Given the description of an element on the screen output the (x, y) to click on. 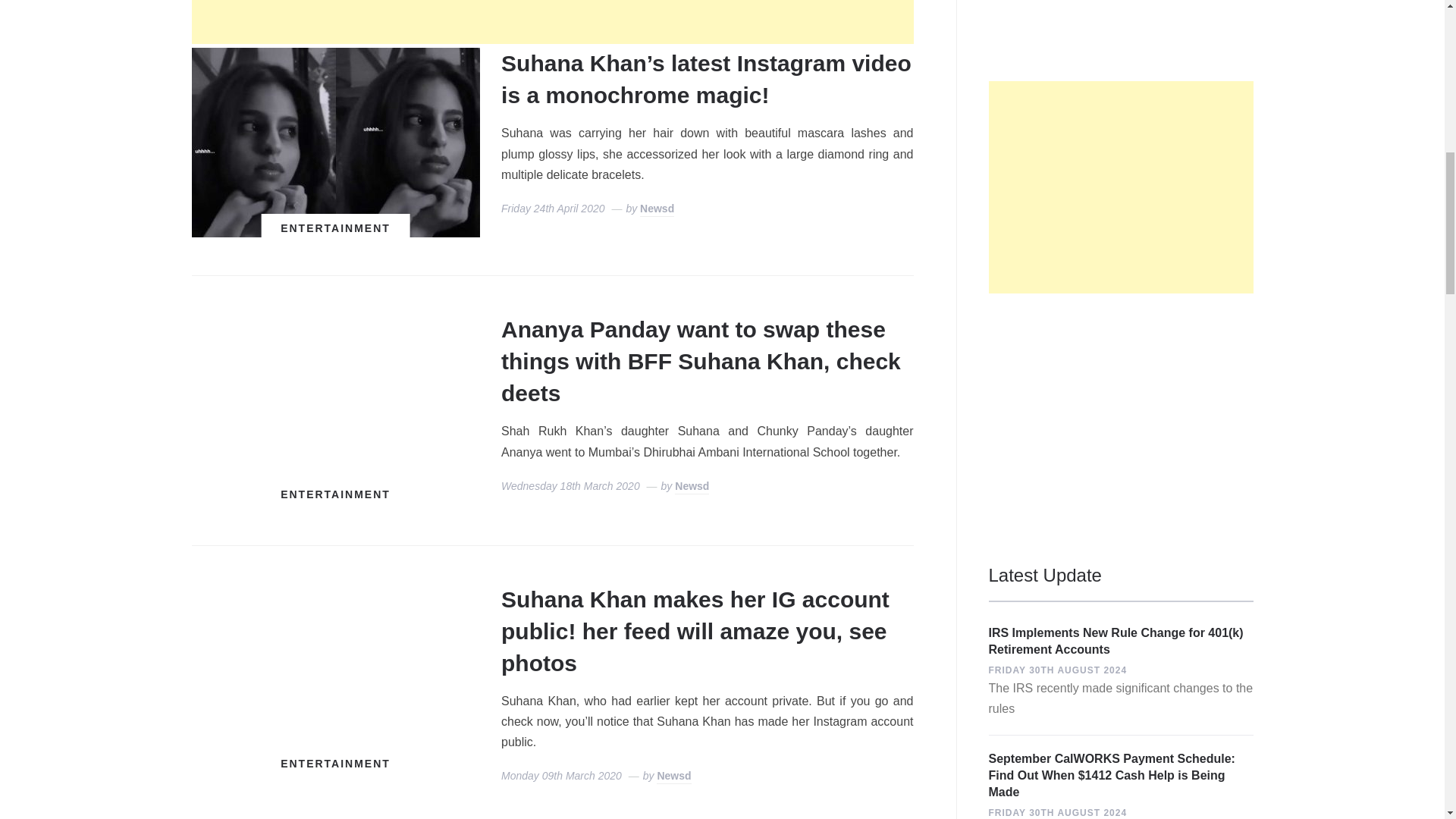
Posts by Newsd (673, 776)
Posts by Newsd (692, 486)
Advertisement (551, 22)
Posts by Newsd (657, 209)
